Given the description of an element on the screen output the (x, y) to click on. 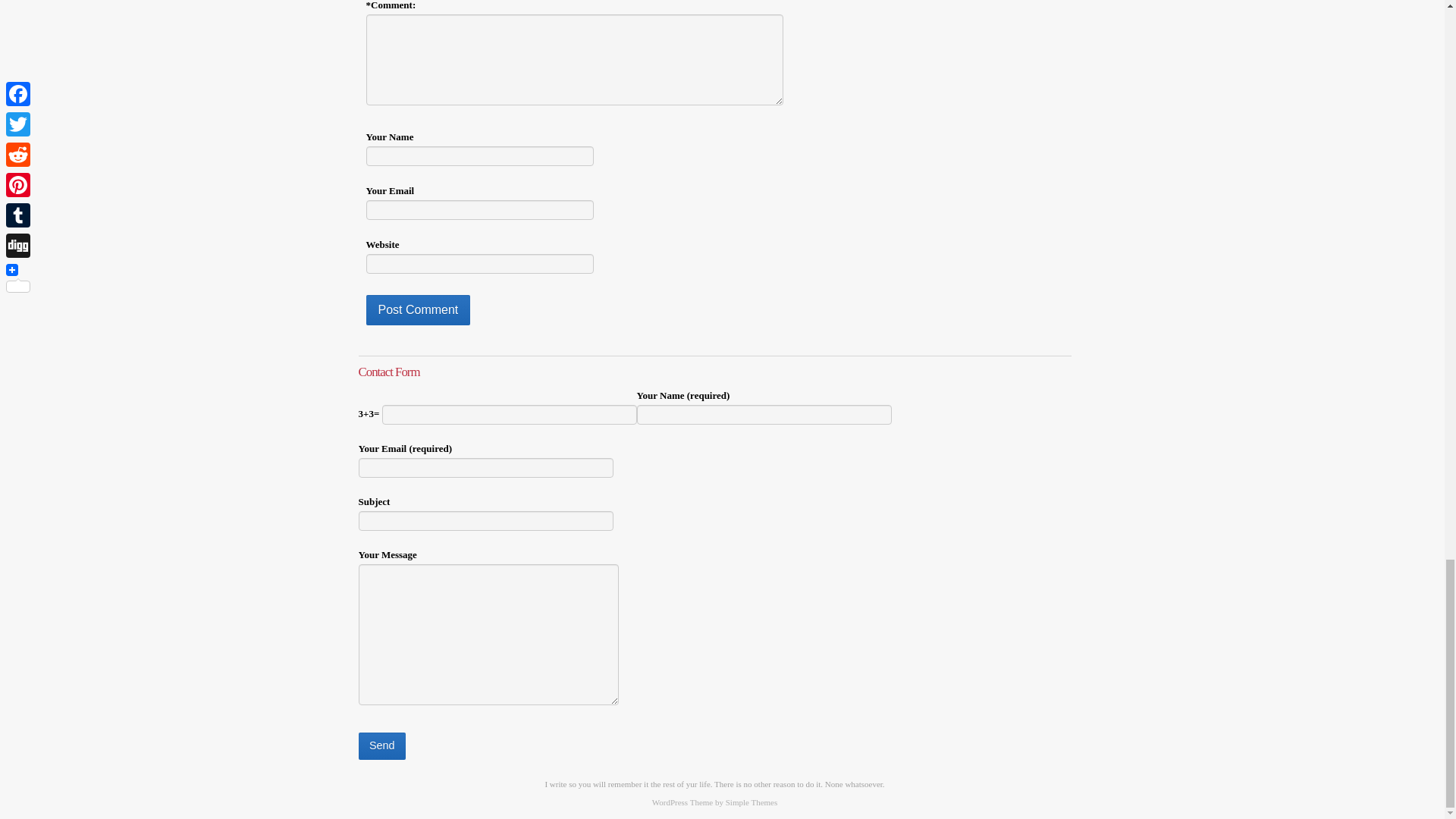
Post Comment (417, 309)
Send (381, 746)
Simple WordPress Themes (751, 801)
Post Comment (417, 309)
